Given the description of an element on the screen output the (x, y) to click on. 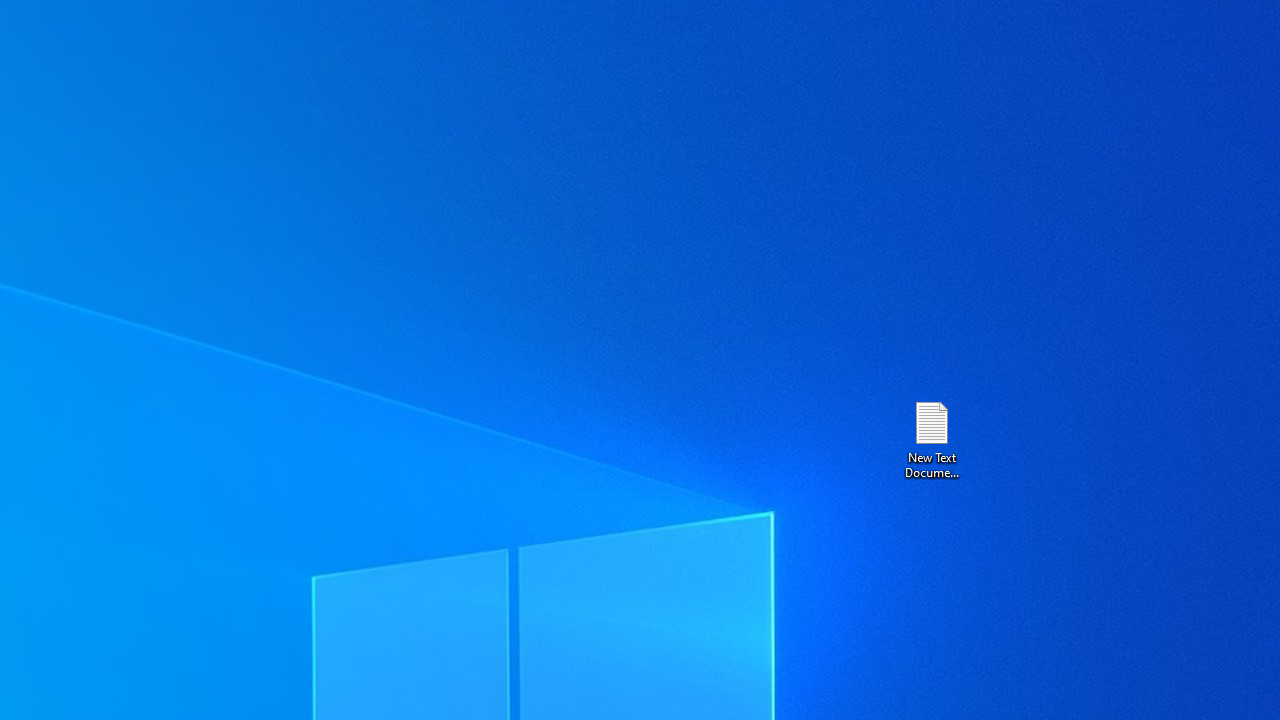
New Text Document (2) (931, 438)
